Given the description of an element on the screen output the (x, y) to click on. 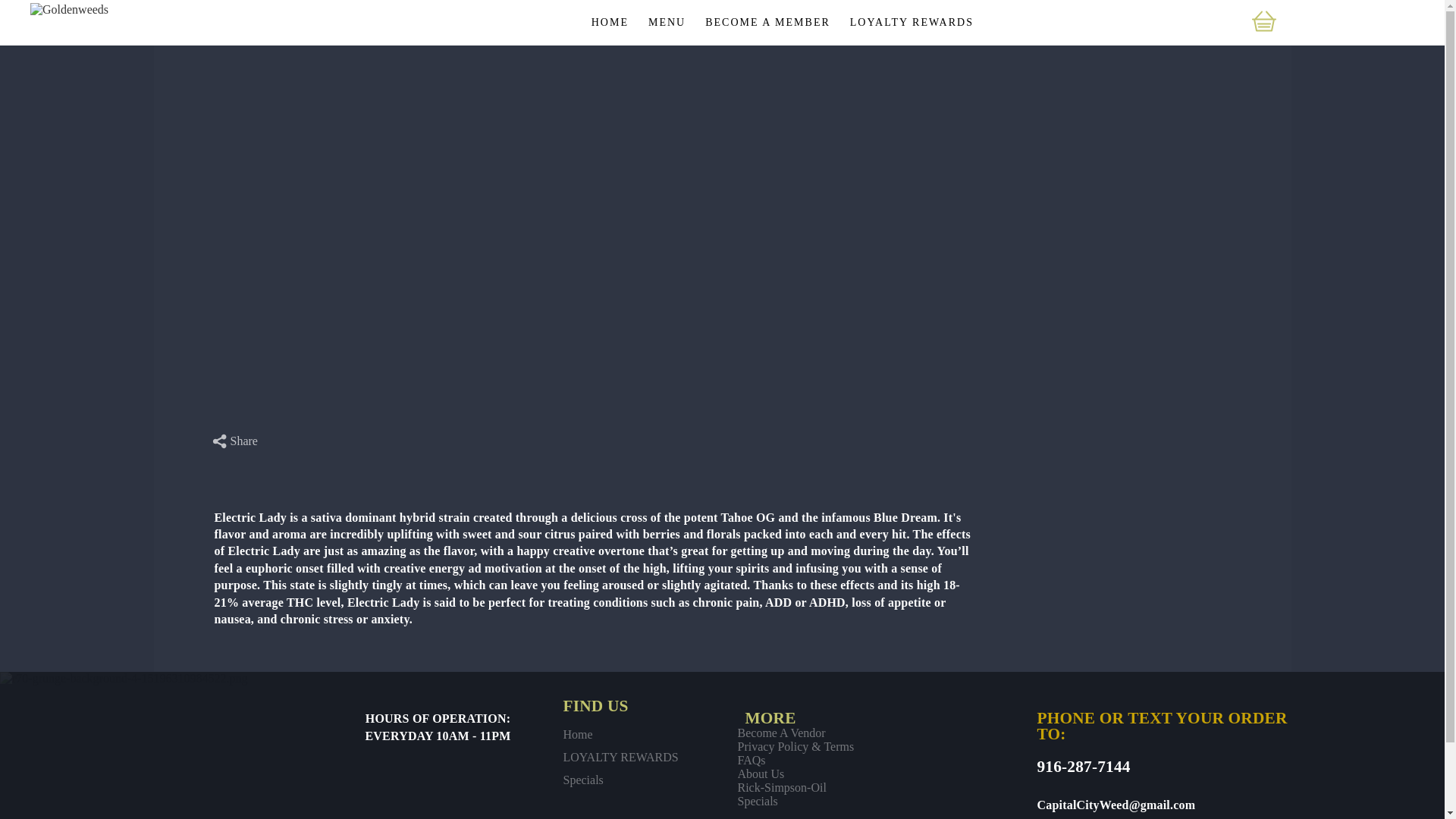
Home (620, 735)
Specials (794, 801)
Rick-Simpson-Oil (794, 787)
FAQs (794, 760)
BECOME A MEMBER (766, 22)
HOME (609, 22)
MENU (666, 22)
Specials (620, 780)
LOYALTY REWARDS (620, 757)
About Us (794, 774)
